Given the description of an element on the screen output the (x, y) to click on. 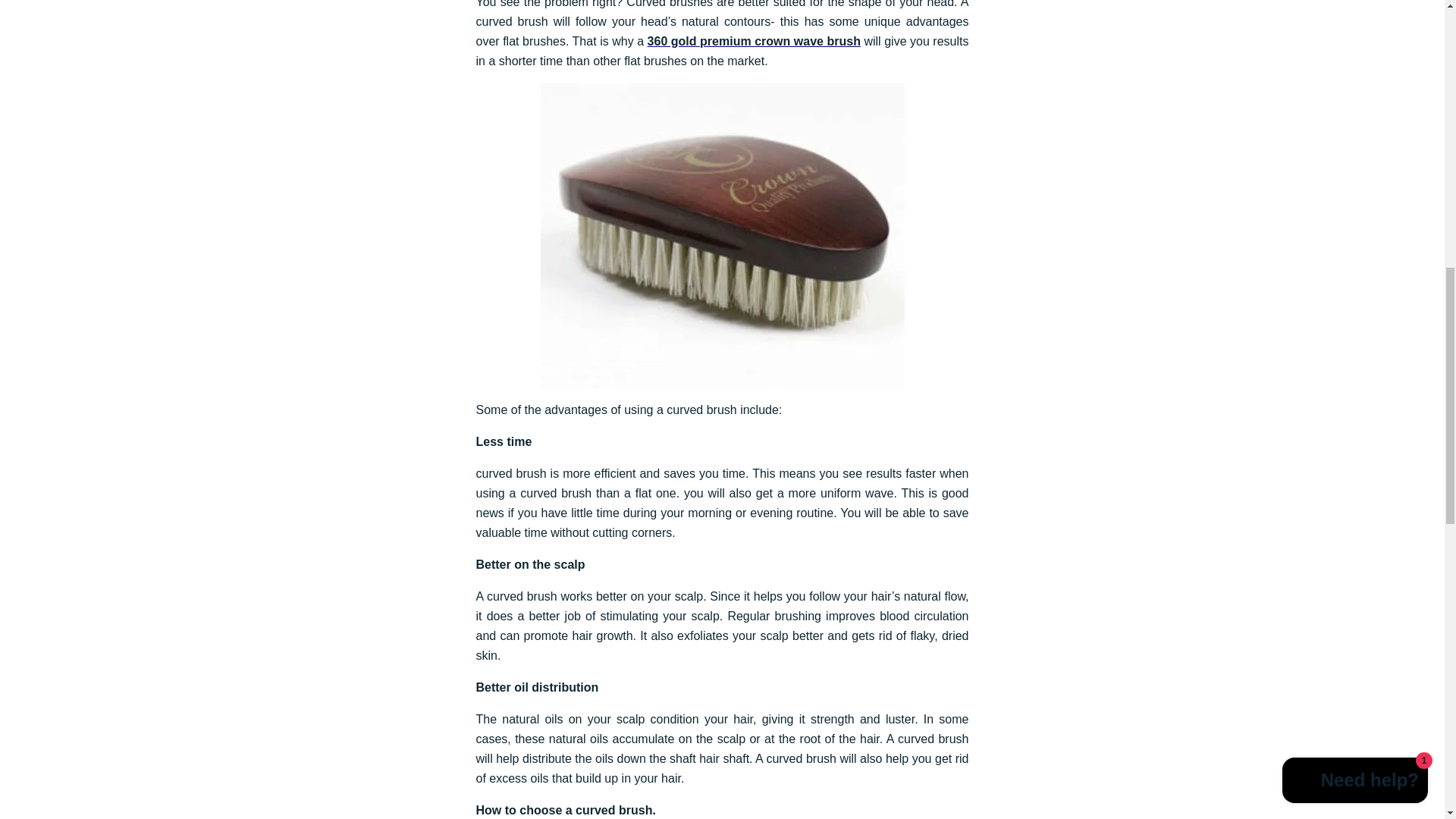
360 gold premium crown wave brush (753, 41)
